Given the description of an element on the screen output the (x, y) to click on. 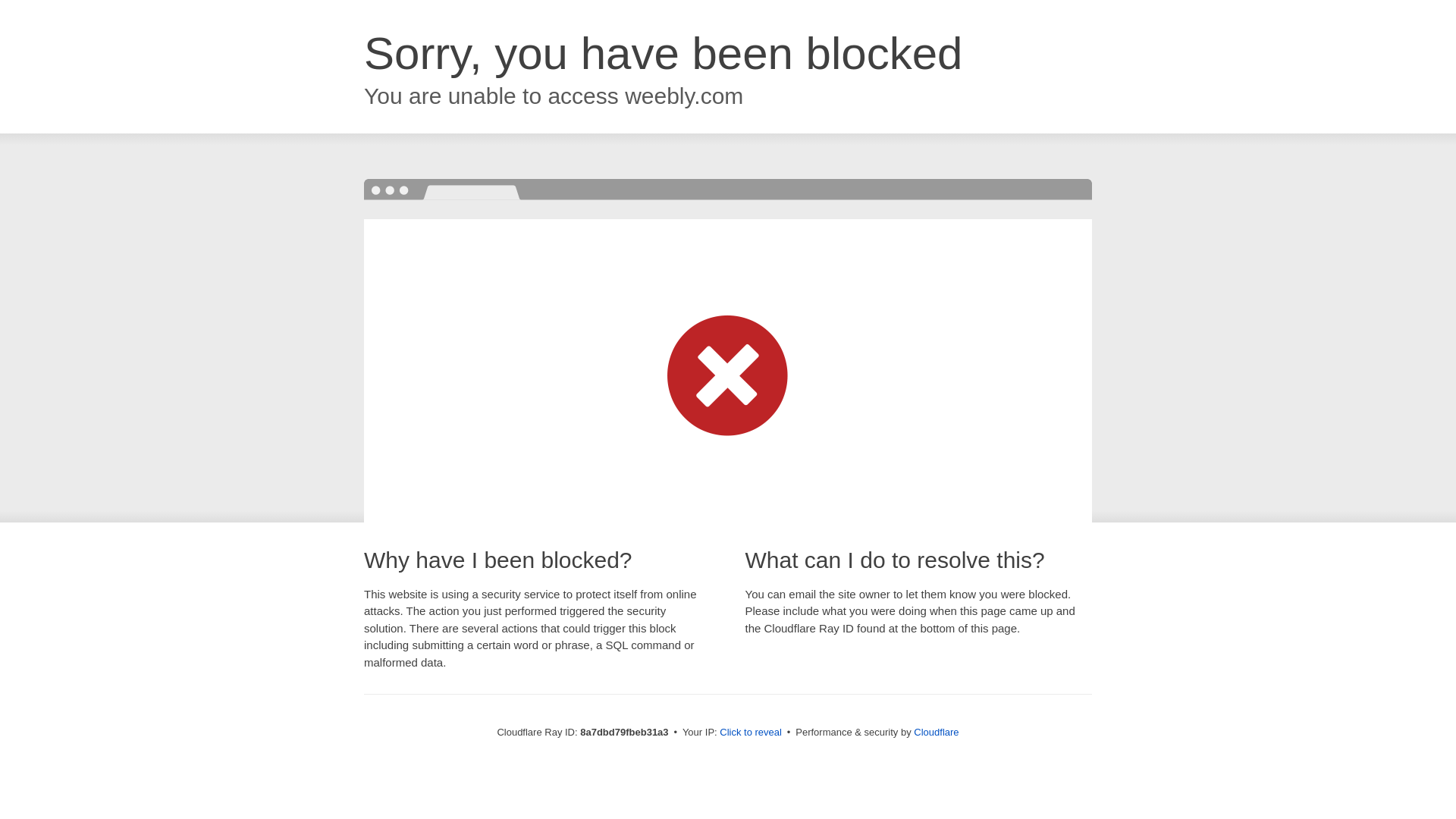
Cloudflare (936, 731)
Click to reveal (750, 732)
